Given the description of an element on the screen output the (x, y) to click on. 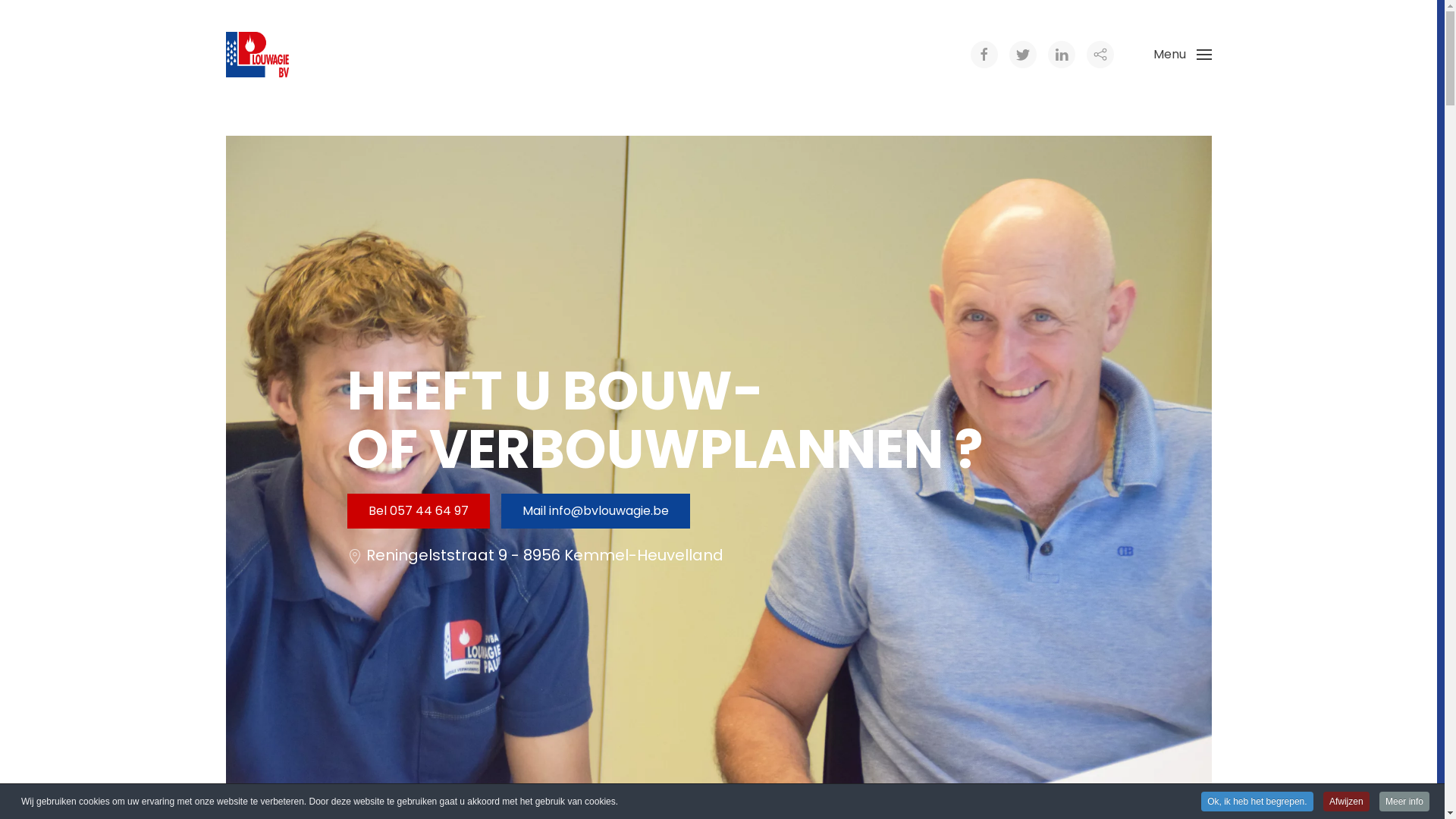
Ok, ik heb het begrepen. Element type: text (1256, 801)
Mail info@bvlouwagie.be Element type: text (594, 510)
Afwijzen Element type: text (1346, 801)
Meer info Element type: text (1404, 801)
info@bvlouwagie.be Element type: text (608, 510)
Reningelststraat 9 - 8956 Kemmel-Heuvelland Element type: text (543, 554)
Bel 057 44 64 97 Element type: text (418, 510)
